Given the description of an element on the screen output the (x, y) to click on. 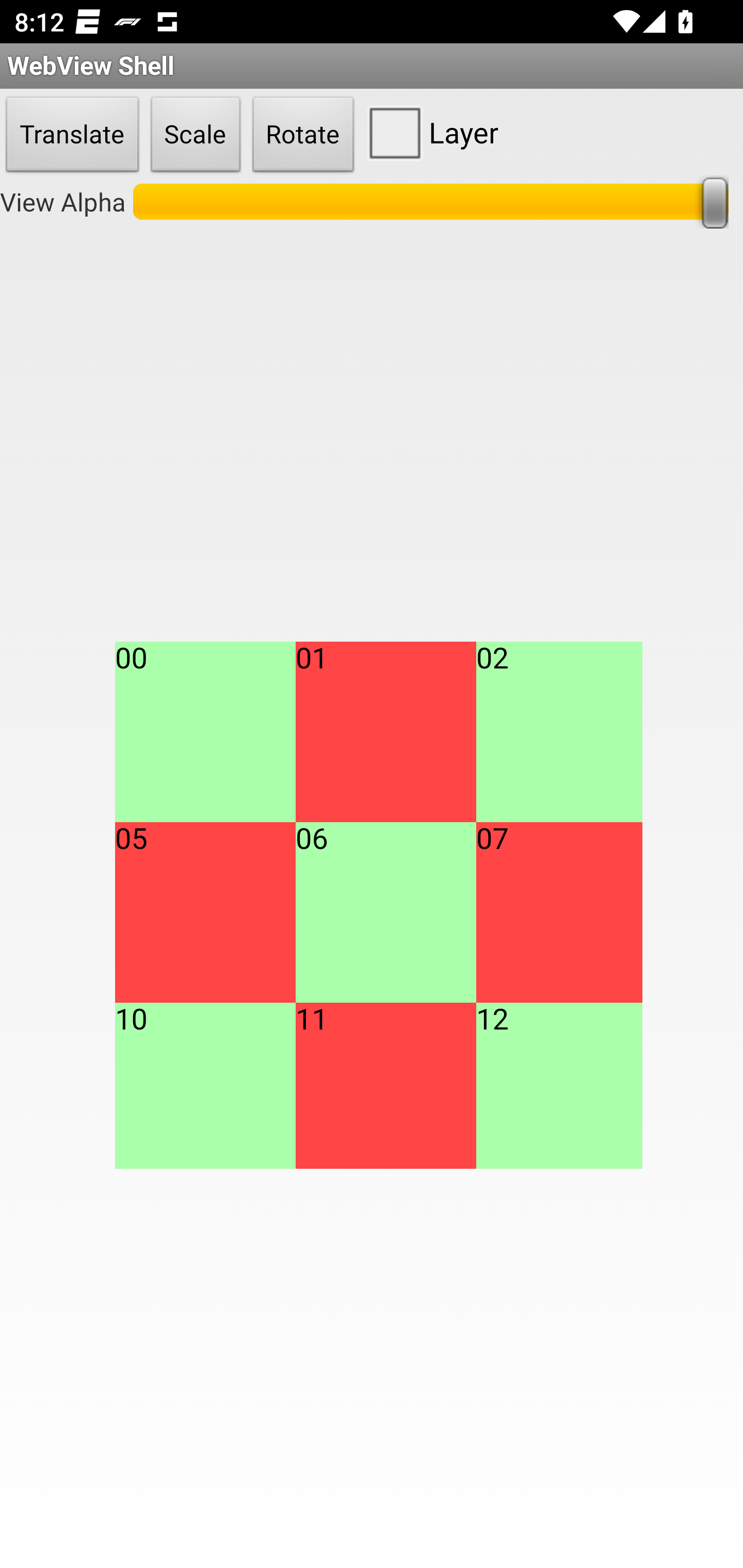
Layer (429, 132)
Translate (72, 135)
Scale (195, 135)
Rotate (303, 135)
